Given the description of an element on the screen output the (x, y) to click on. 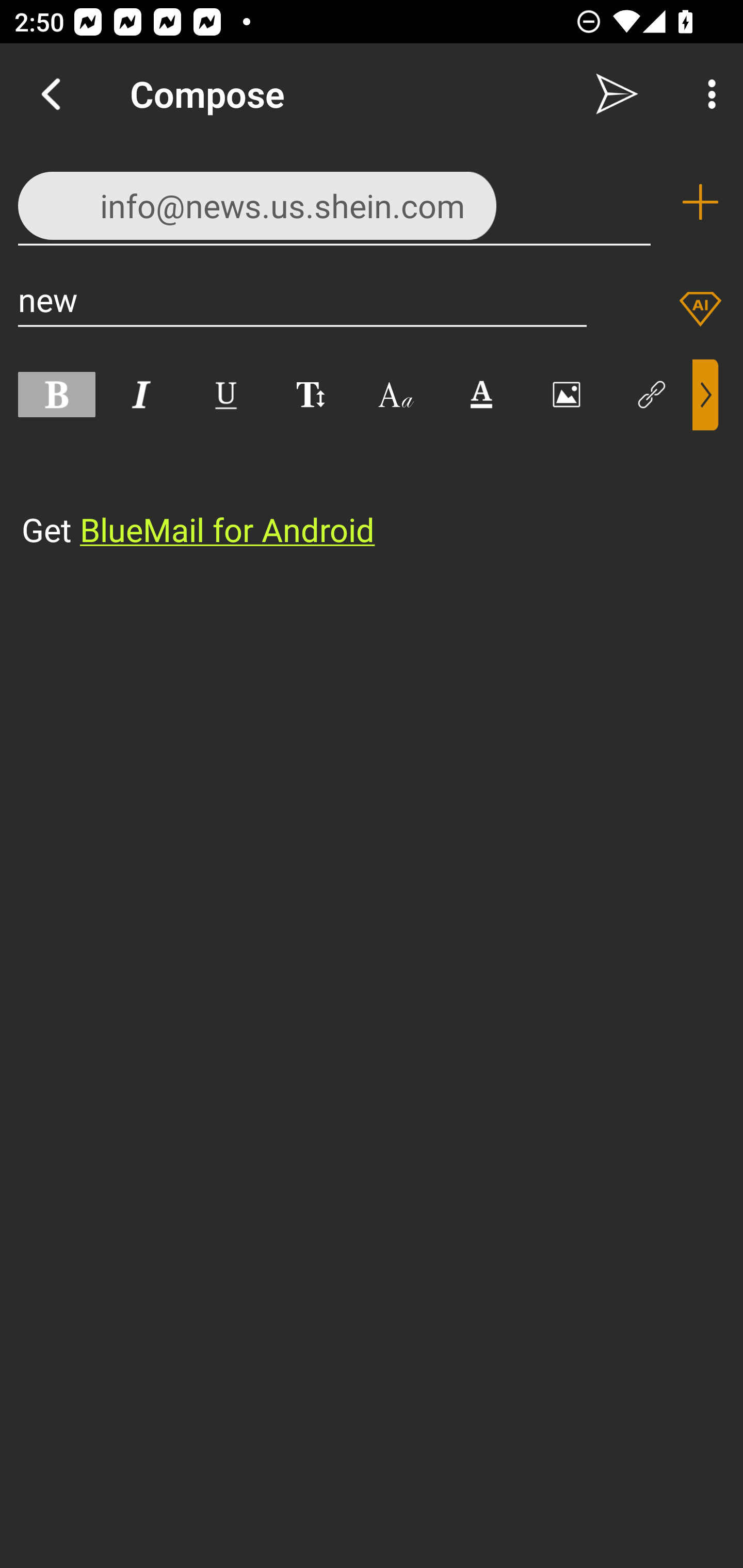
Navigate up (50, 93)
Send (616, 93)
More Options (706, 93)
<info@news.us.shein.com>,  (334, 201)
Add recipient (To) (699, 201)
new (302, 299)


⁣Get BlueMail for Android ​ (355, 491)
